Given the description of an element on the screen output the (x, y) to click on. 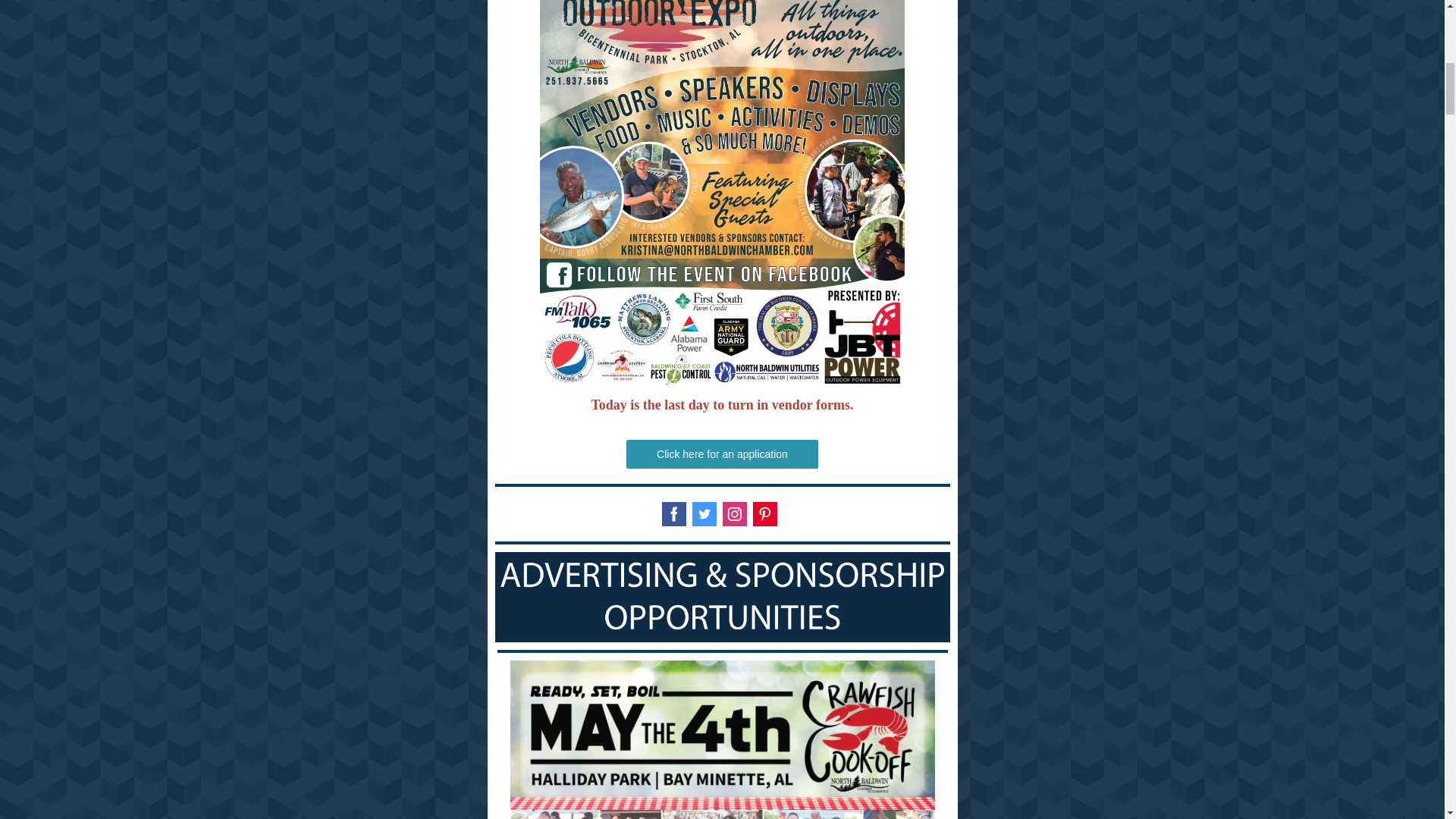
Click here for an application (721, 453)
